Given the description of an element on the screen output the (x, y) to click on. 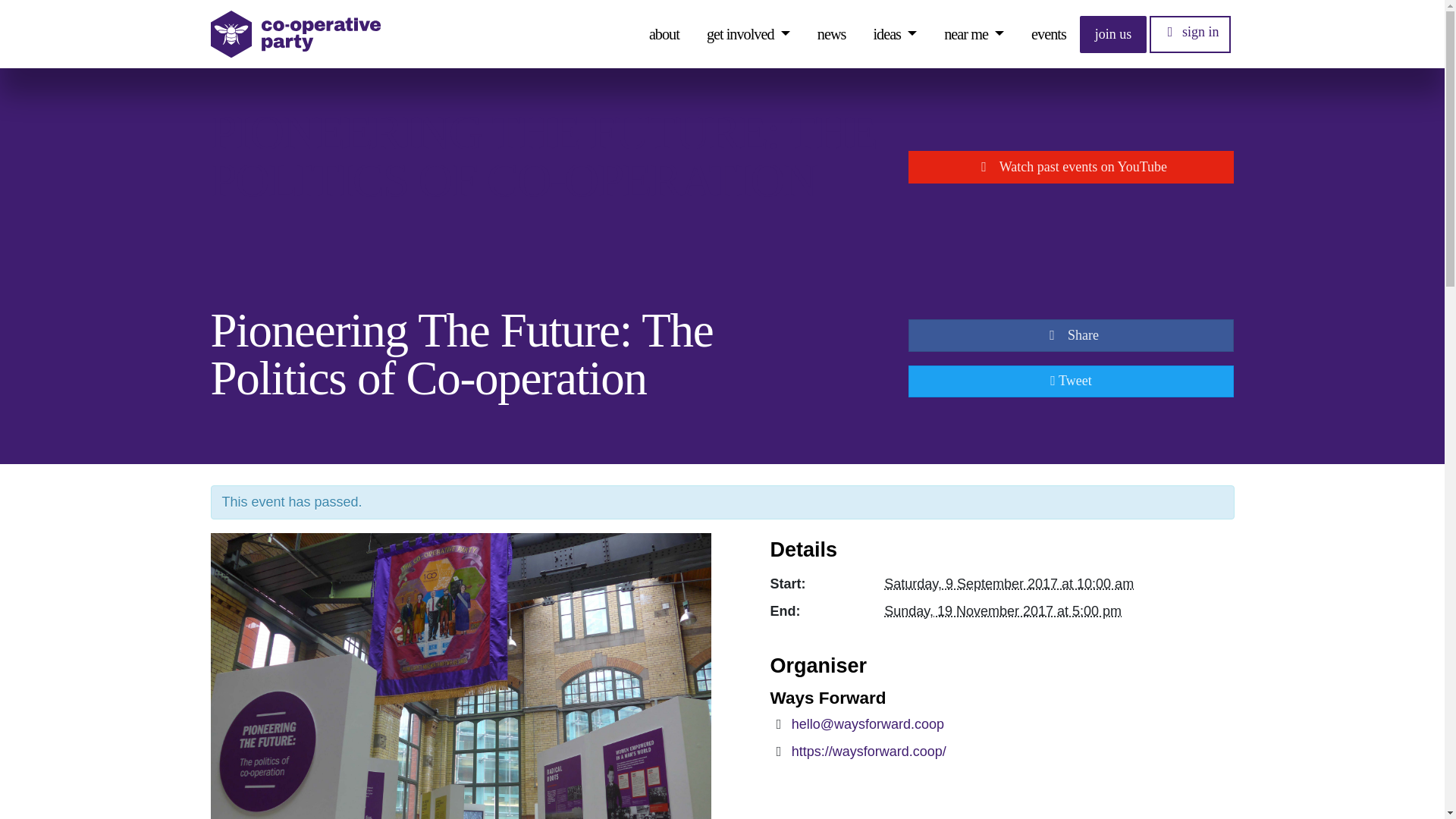
Co-operative Party Logo (296, 34)
get involved (748, 33)
Ideas (894, 33)
Share (1071, 335)
news (831, 33)
Tweet (1071, 381)
events (1049, 33)
Co-operative Party Logo (296, 34)
Get Involved (748, 33)
ideas (894, 33)
